Given the description of an element on the screen output the (x, y) to click on. 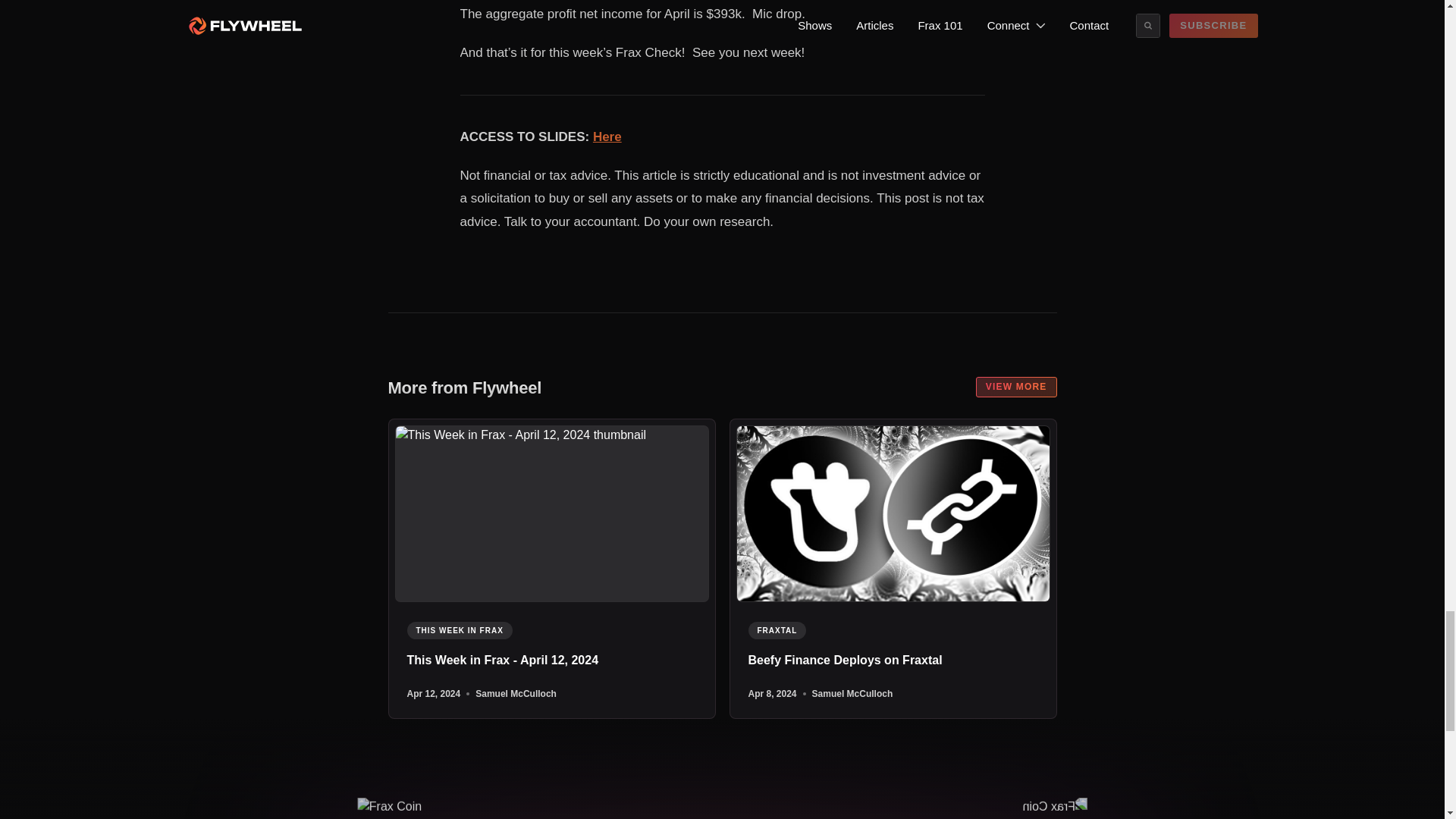
VIEW MORE (1016, 386)
Here (606, 136)
